Given the description of an element on the screen output the (x, y) to click on. 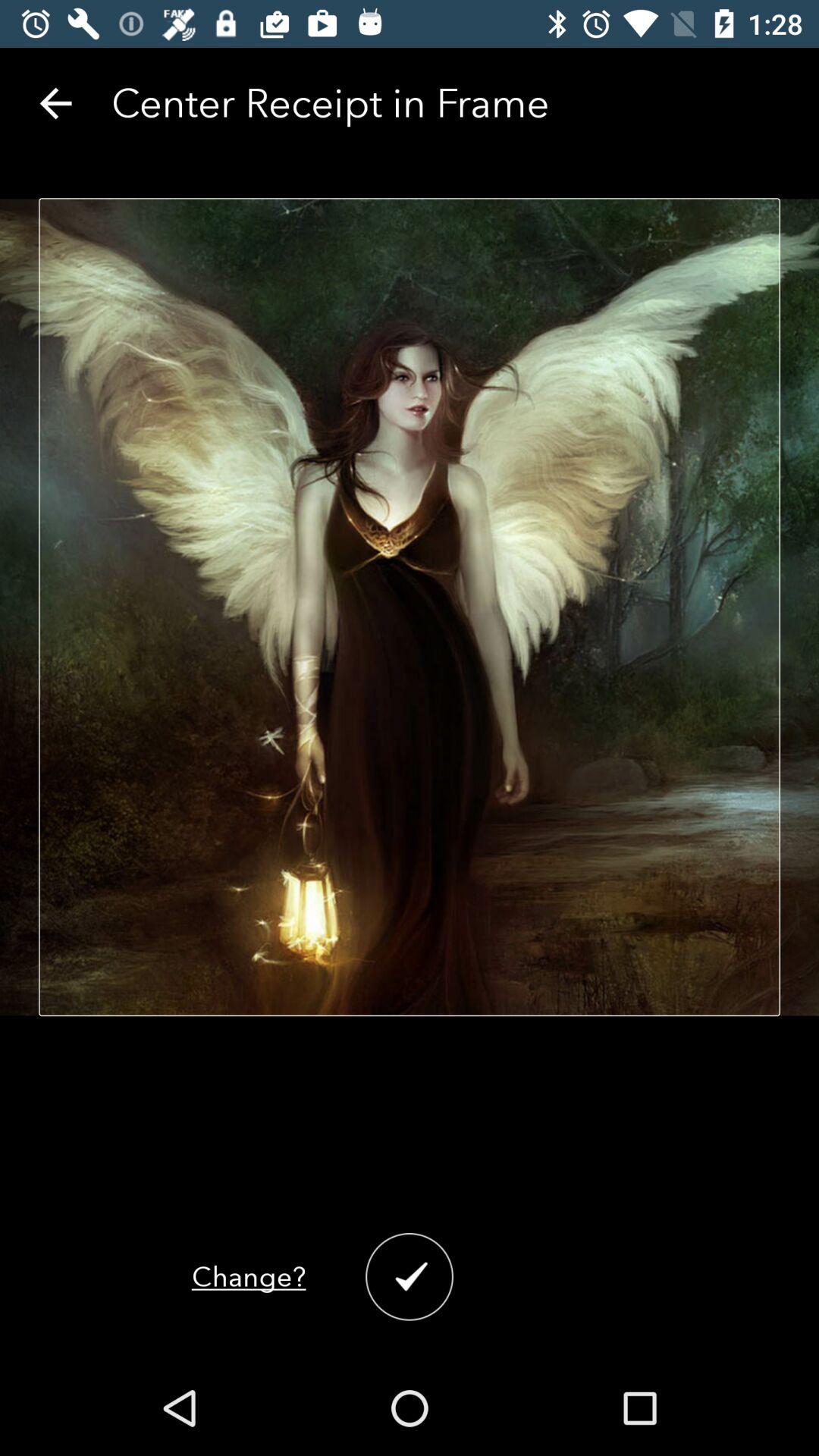
click the item at the bottom left corner (248, 1276)
